Given the description of an element on the screen output the (x, y) to click on. 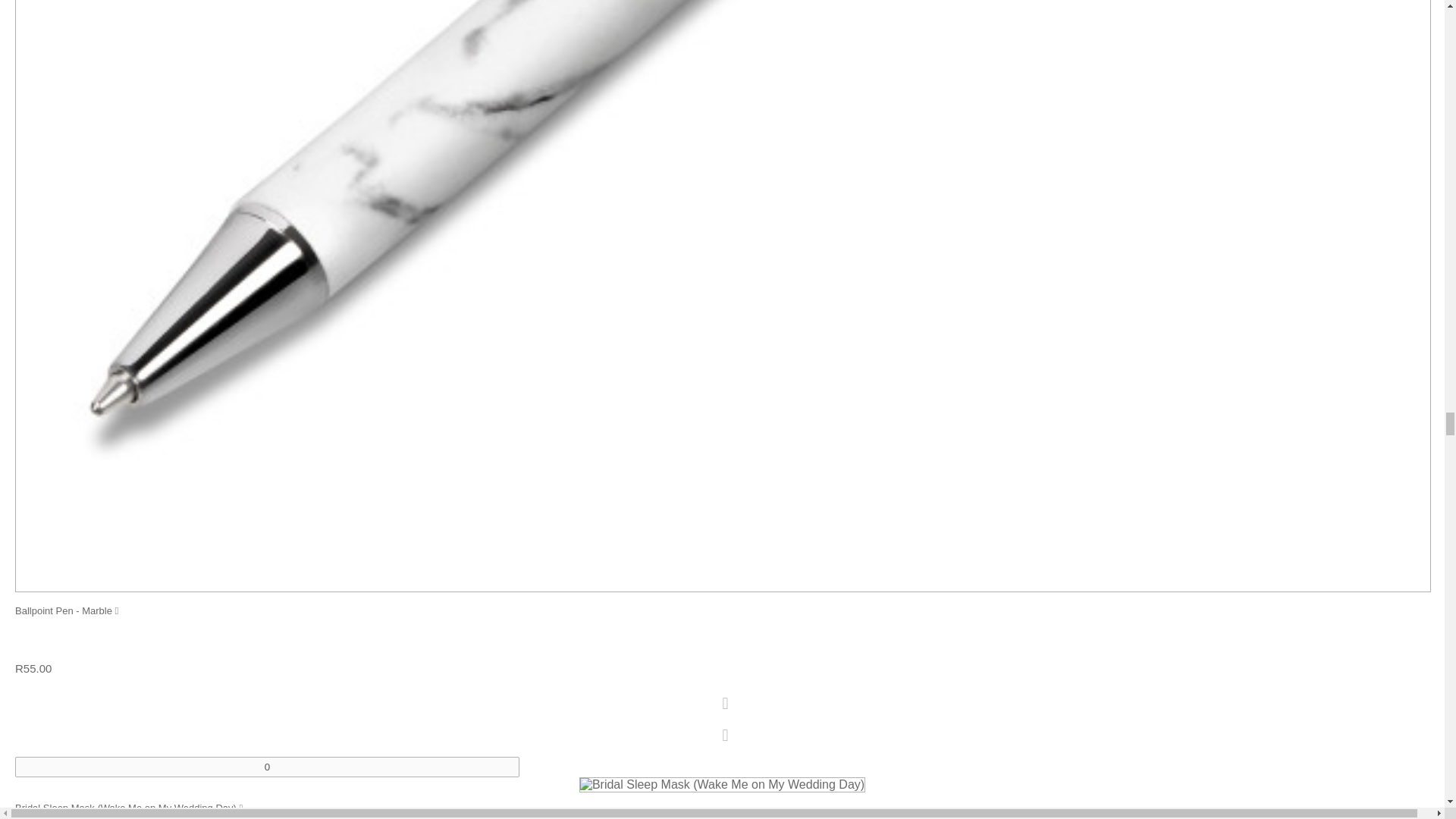
0 (266, 766)
